Given the description of an element on the screen output the (x, y) to click on. 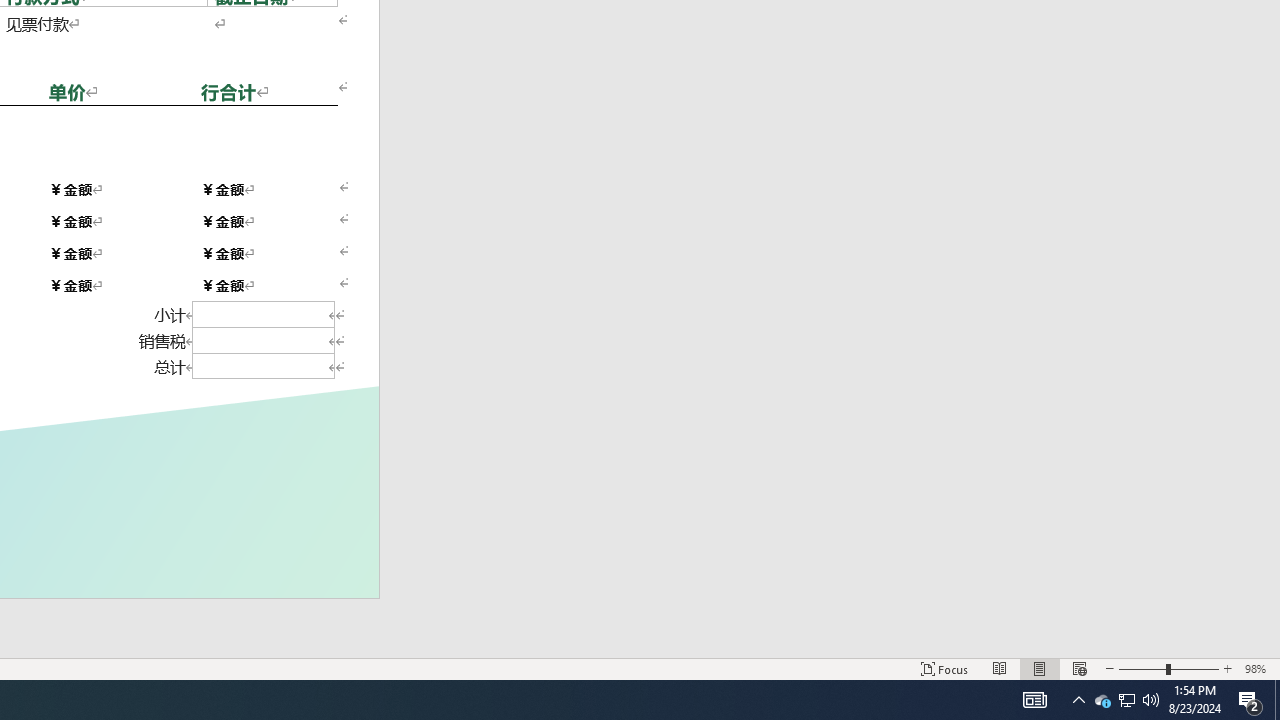
Zoom 98% (1258, 668)
